Given the description of an element on the screen output the (x, y) to click on. 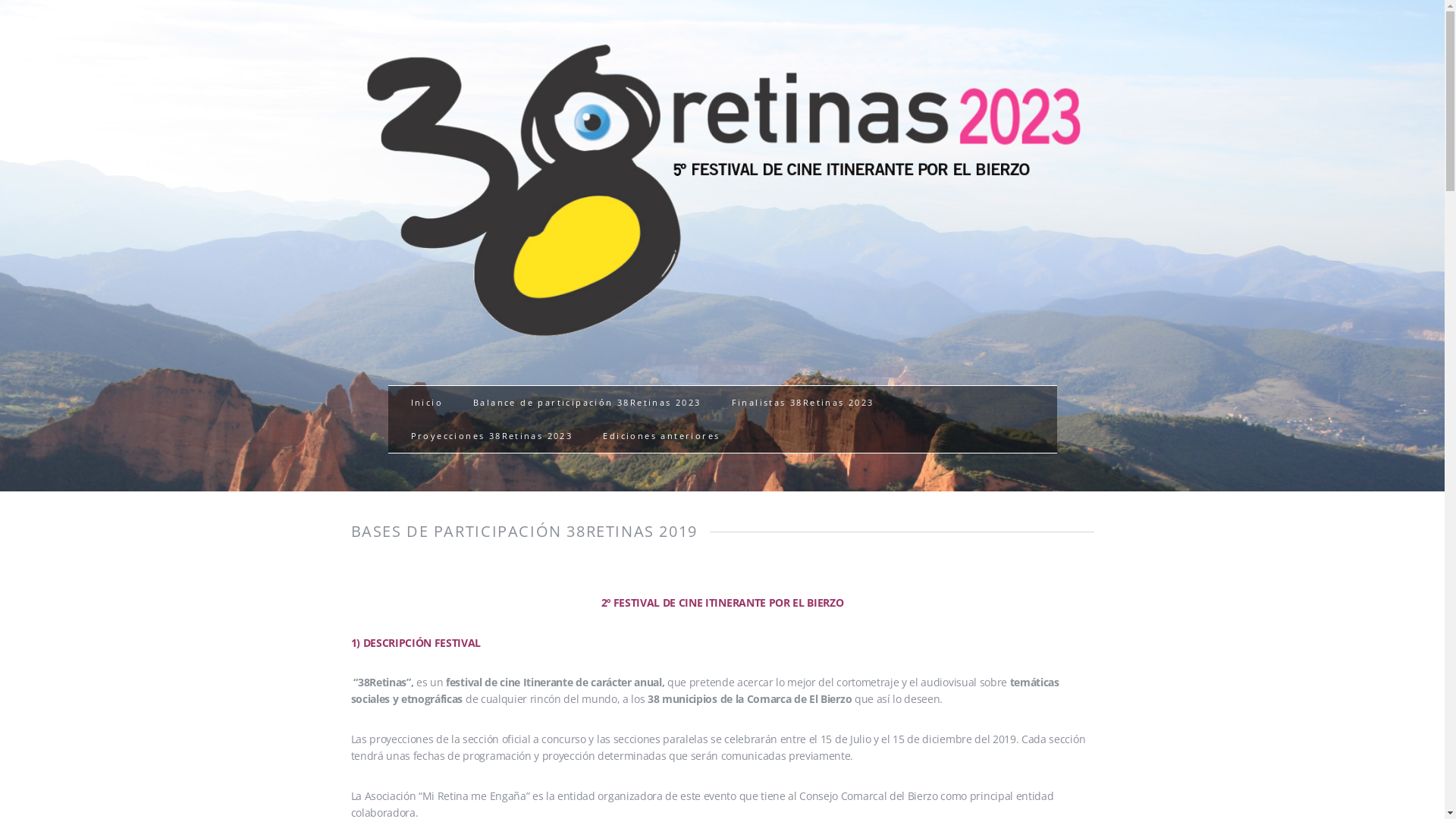
Proyecciones 38Retinas 2023 Element type: text (491, 435)
Finalistas 38Retinas 2023 Element type: text (802, 402)
Ediciones anteriores Element type: text (661, 435)
Inicio Element type: text (426, 402)
38Retinas 2023 Element type: hover (721, 337)
